Given the description of an element on the screen output the (x, y) to click on. 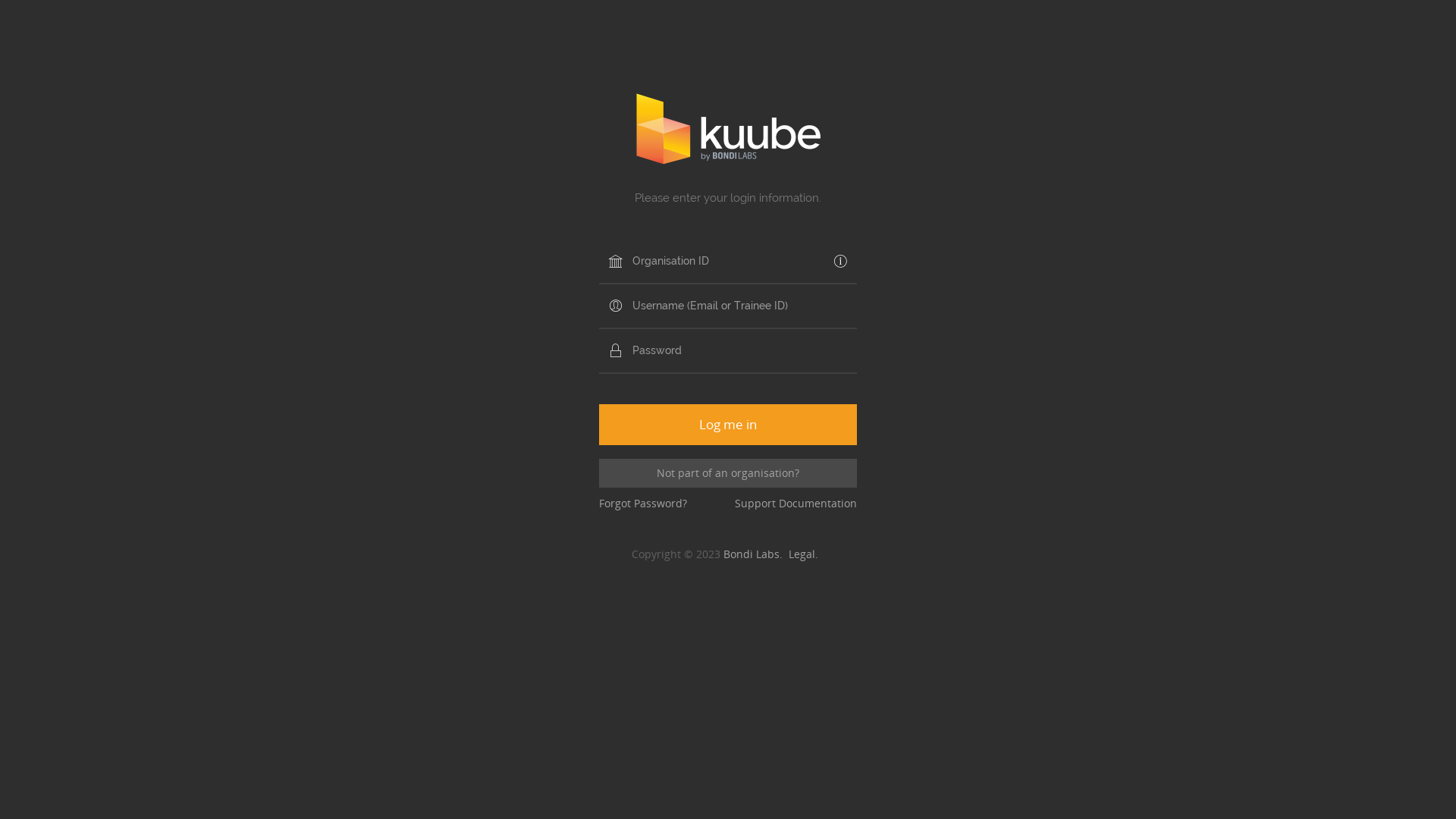
Bondi Labs.   Element type: text (755, 553)
Log me in Element type: text (727, 424)
Forgot Password? Element type: text (643, 502)
Legal.   Element type: text (806, 553)
Support Documentation Element type: text (795, 502)
Not part of an organisation? Element type: text (727, 472)
